Given the description of an element on the screen output the (x, y) to click on. 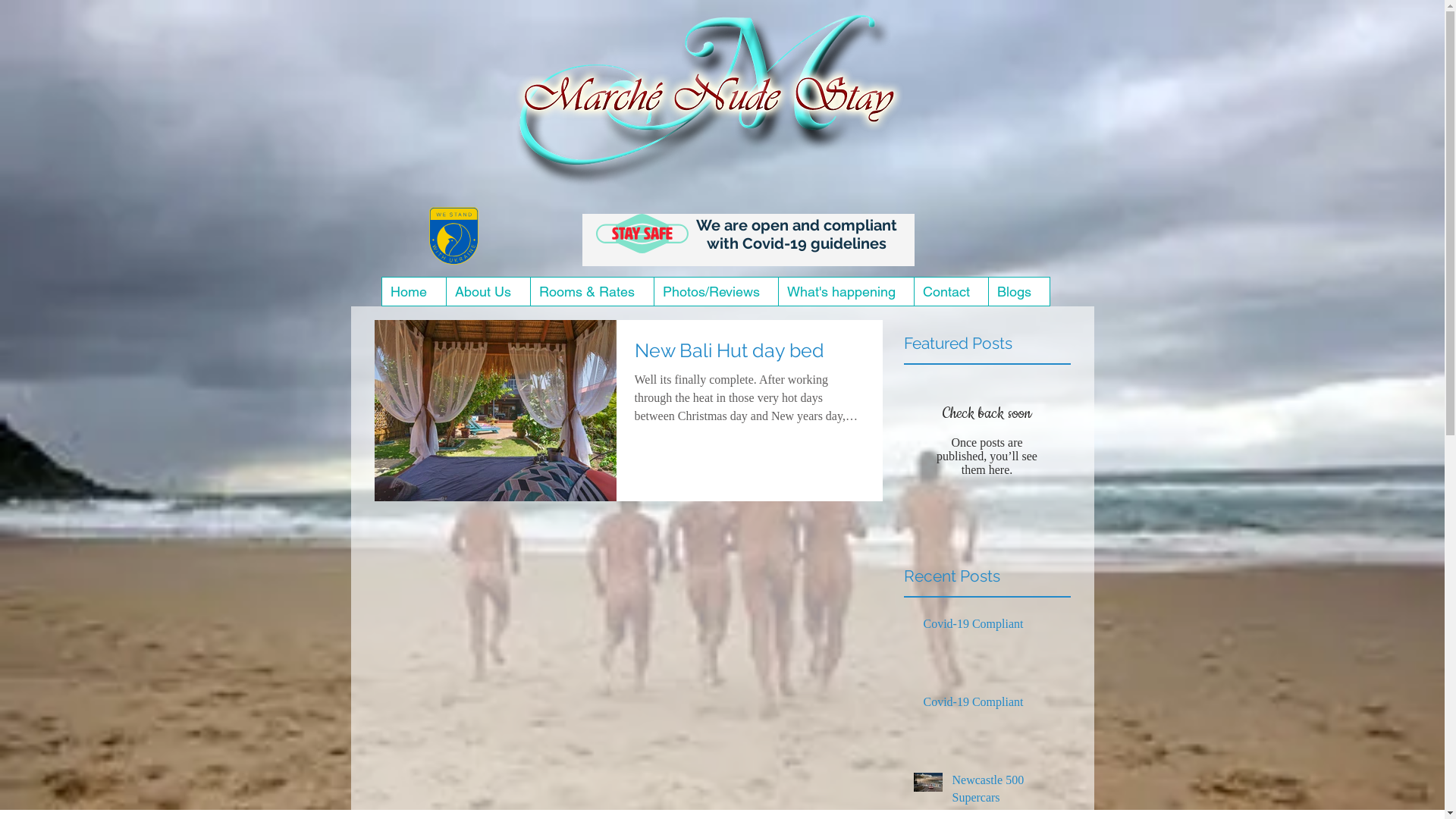
New Bali Hut day bed Element type: text (748, 354)
Photos/Reviews Element type: text (715, 291)
Home Element type: text (413, 291)
What's happening Element type: text (845, 291)
About Us Element type: text (487, 291)
Covid-19 Compliant Element type: text (992, 704)
Covid-19 Compliant Element type: text (992, 626)
Blogs Element type: text (1017, 291)
Newcastle 500 Supercars Element type: text (1006, 791)
logo for website5.png Element type: hover (716, 107)
Contact Element type: text (950, 291)
Rooms & Rates Element type: text (590, 291)
